Given the description of an element on the screen output the (x, y) to click on. 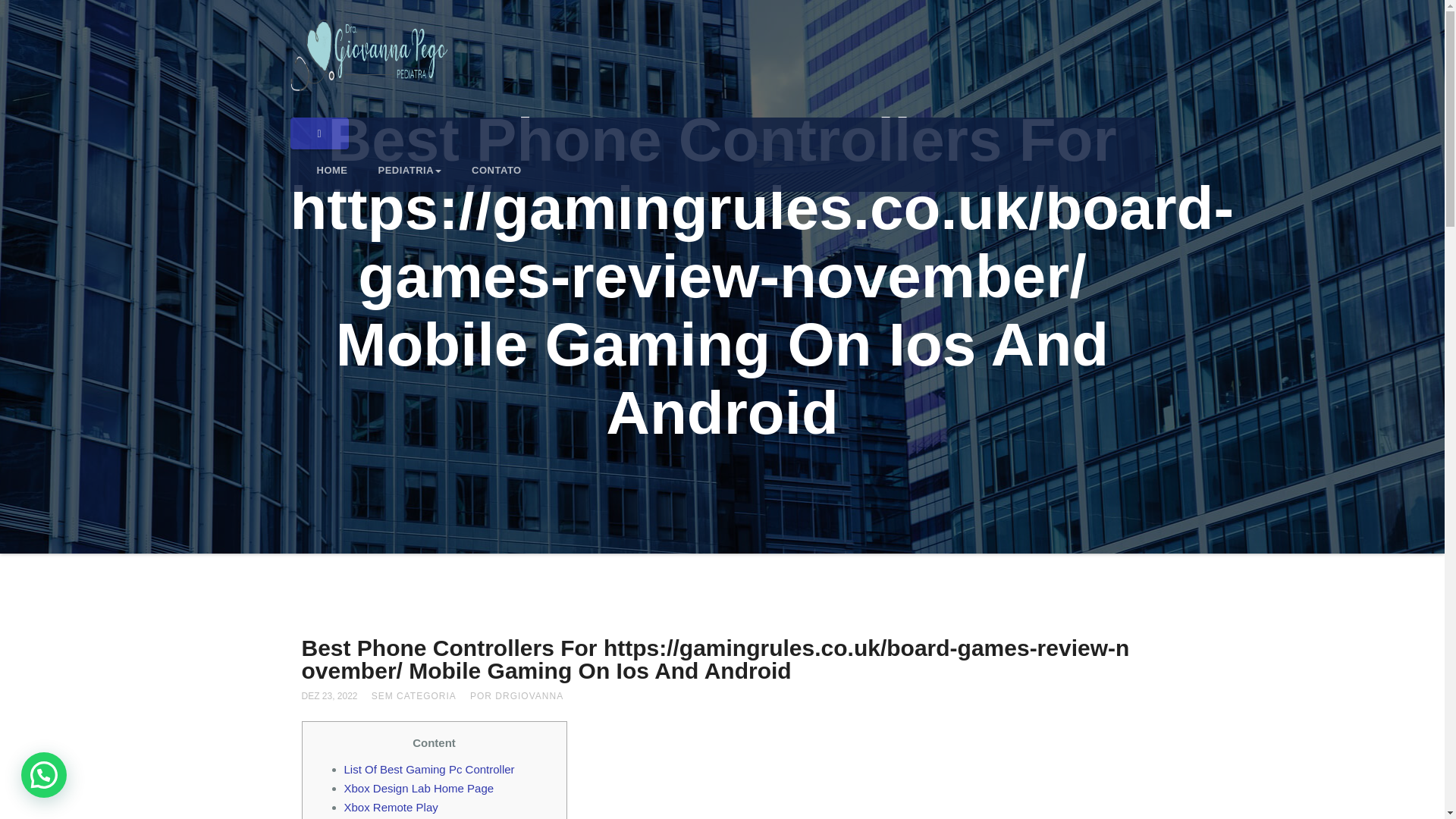
SEM CATEGORIA (414, 696)
CONTATO (497, 170)
List Of Best Gaming Pc Controller (429, 768)
Xbox Remote Play (390, 807)
Xbox Design Lab Home Page (419, 788)
HOME (331, 170)
PEDIATRIA (409, 170)
POR DRGIOVANNA (516, 696)
